Given the description of an element on the screen output the (x, y) to click on. 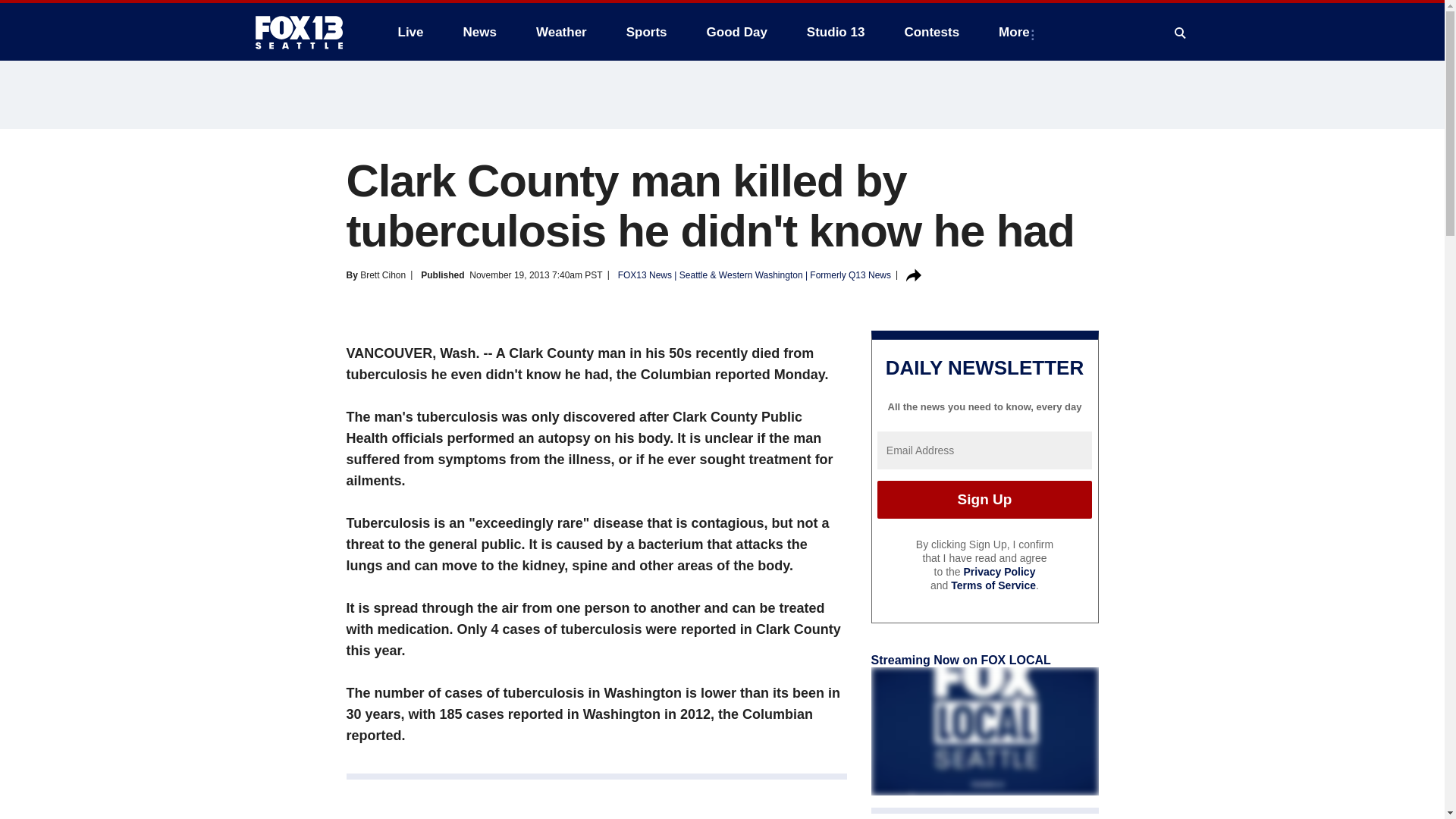
More (1017, 32)
Weather (561, 32)
Sports (646, 32)
Sign Up (984, 499)
Contests (931, 32)
Studio 13 (835, 32)
Live (410, 32)
News (479, 32)
Good Day (736, 32)
